Given the description of an element on the screen output the (x, y) to click on. 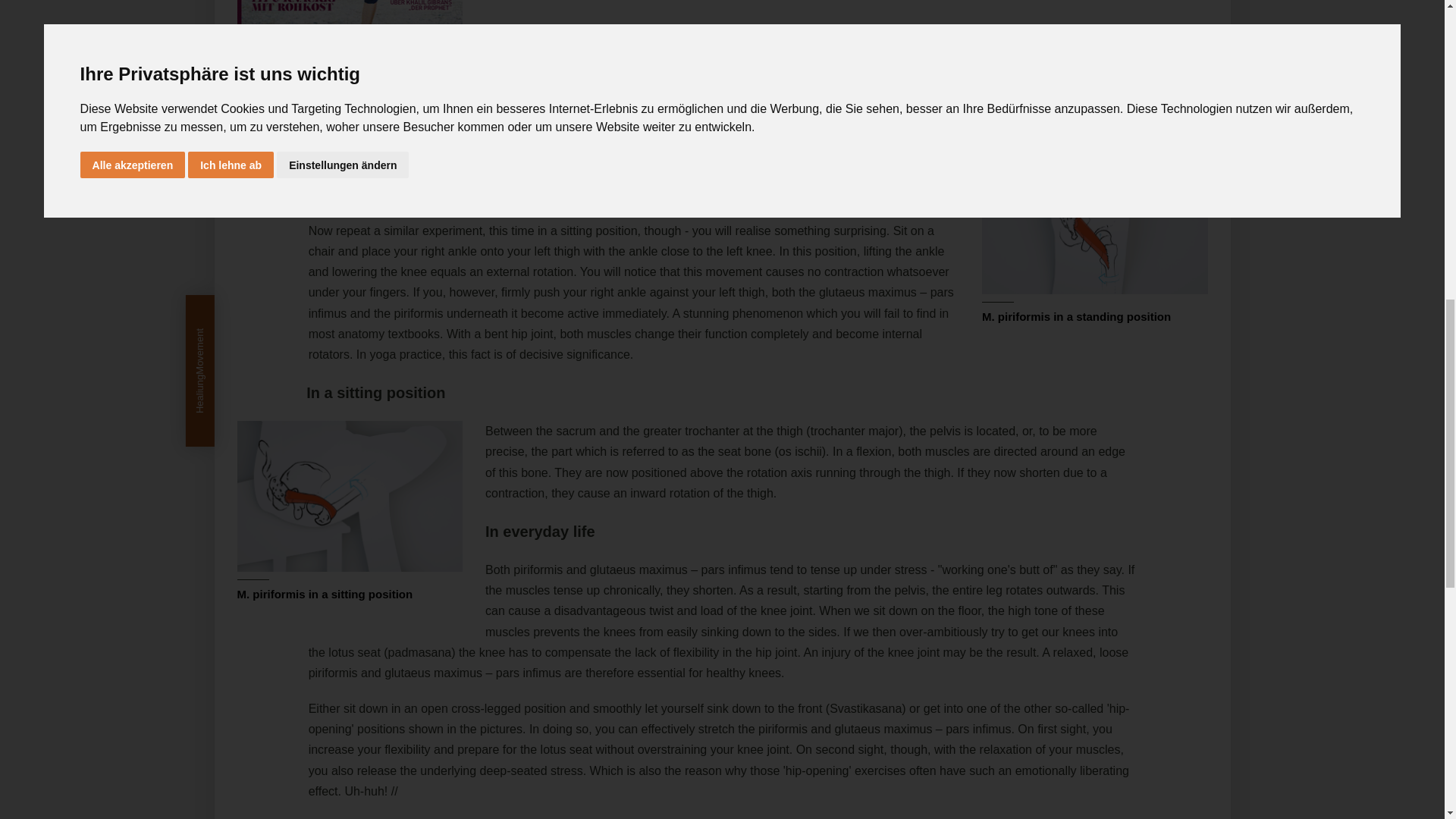
M. piriformis in a sitting position (349, 495)
M. piriformis in a standing position (1094, 218)
